Given the description of an element on the screen output the (x, y) to click on. 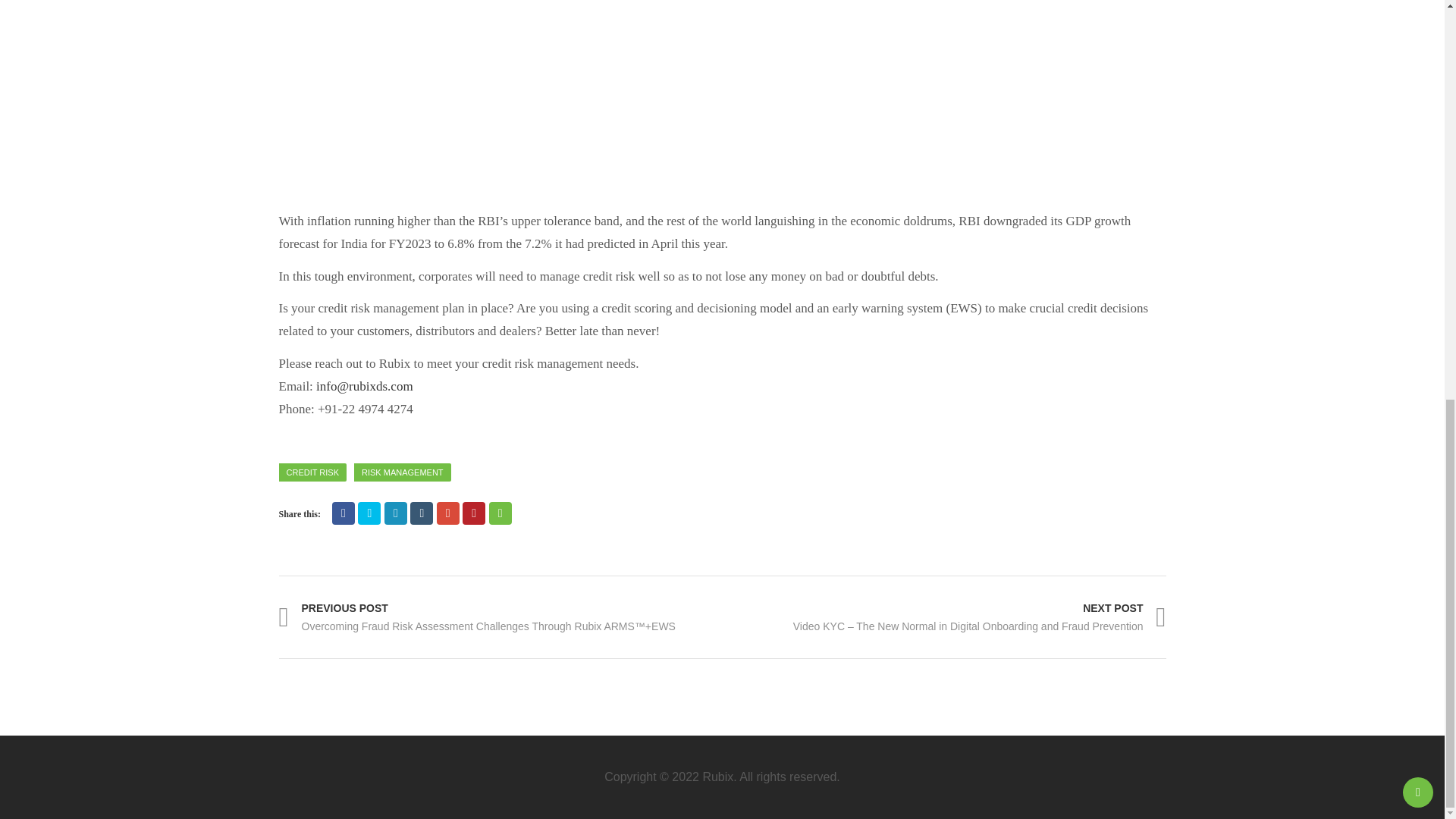
Share on Google plus (448, 513)
Share on Pinterest (473, 513)
Email to a Friend (500, 513)
Share on LinkedIn (395, 513)
CREDIT RISK (312, 472)
Share on facebook (343, 513)
Share on Twitter (369, 513)
RISK MANAGEMENT (402, 472)
Share on Tumblr (421, 513)
